Given the description of an element on the screen output the (x, y) to click on. 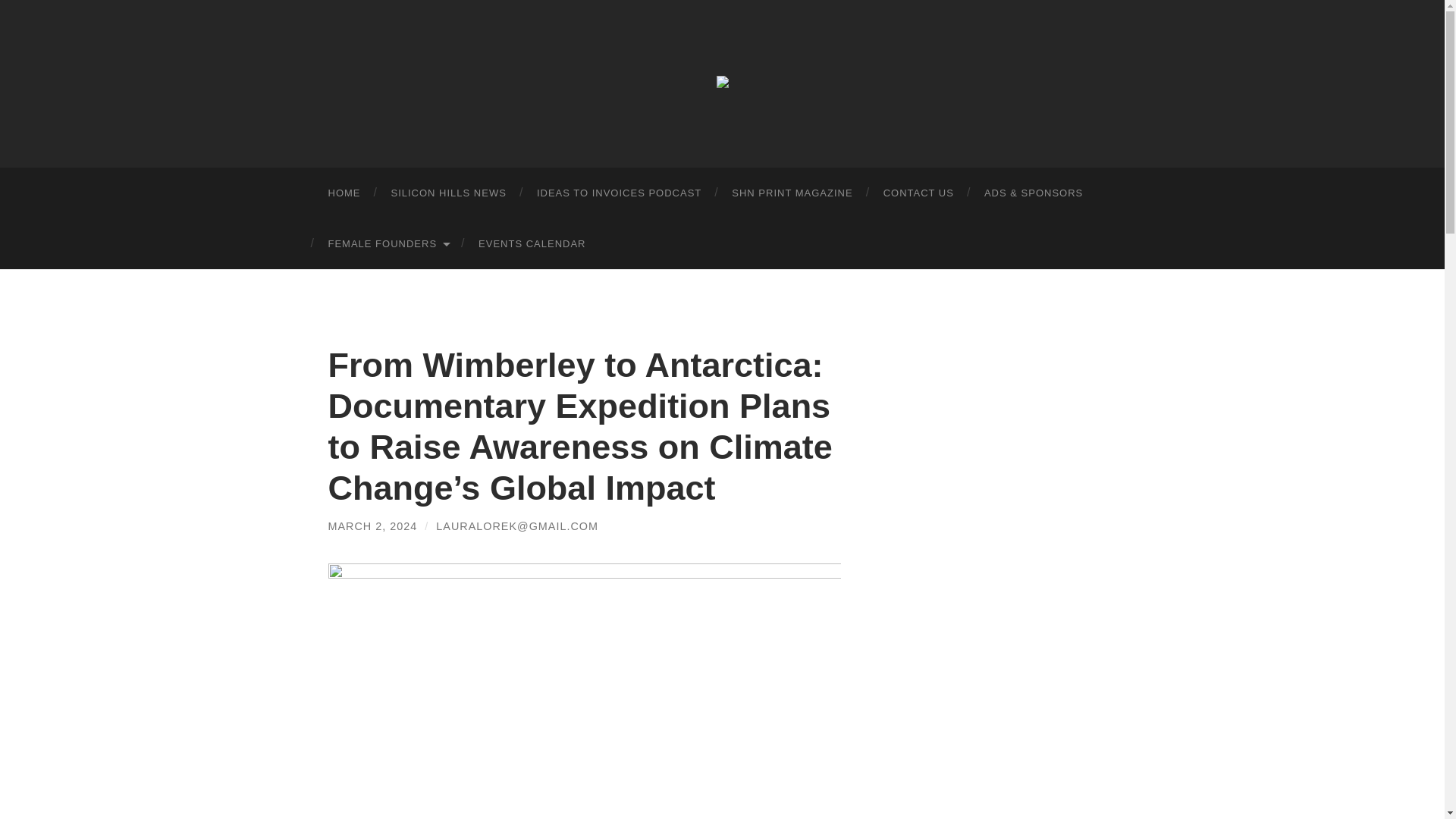
MARCH 2, 2024 (371, 526)
FEMALE FOUNDERS (388, 243)
HOME (344, 192)
CONTACT US (918, 192)
IDEAS TO INVOICES PODCAST (618, 192)
SILICON HILLS NEWS (448, 192)
EVENTS CALENDAR (531, 243)
SHN PRINT MAGAZINE (791, 192)
SiliconHills (722, 81)
